Given the description of an element on the screen output the (x, y) to click on. 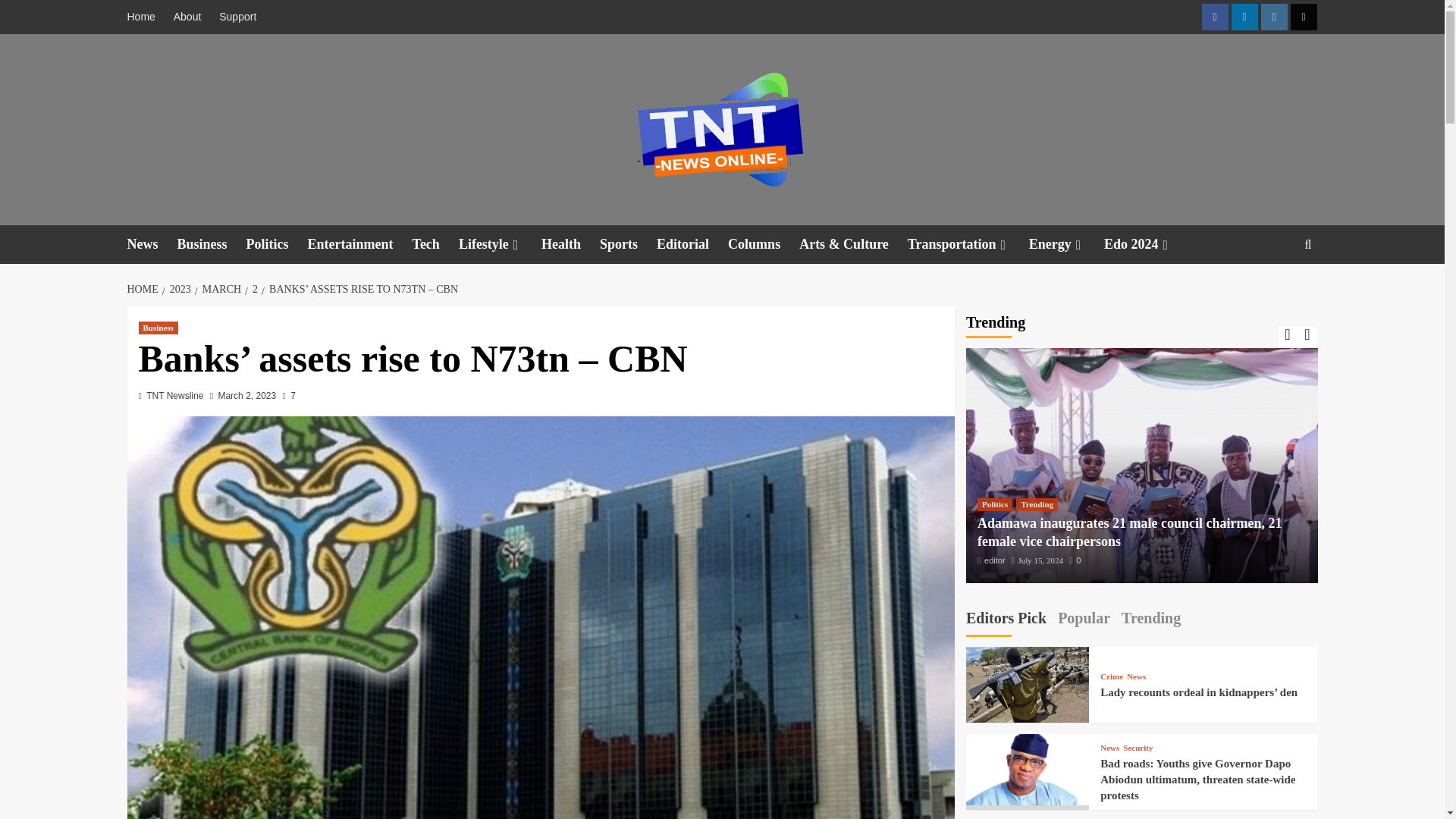
Tech (435, 244)
Columns (763, 244)
Linkedin (1244, 17)
Politics (276, 244)
Sports (627, 244)
Twitter (1303, 17)
Lifestyle (499, 244)
Edo 2024 (1147, 244)
Entertainment (359, 244)
Support (237, 17)
Instagram (1273, 17)
About (187, 17)
Business (211, 244)
Home (145, 17)
Facebook (1214, 17)
